Given the description of an element on the screen output the (x, y) to click on. 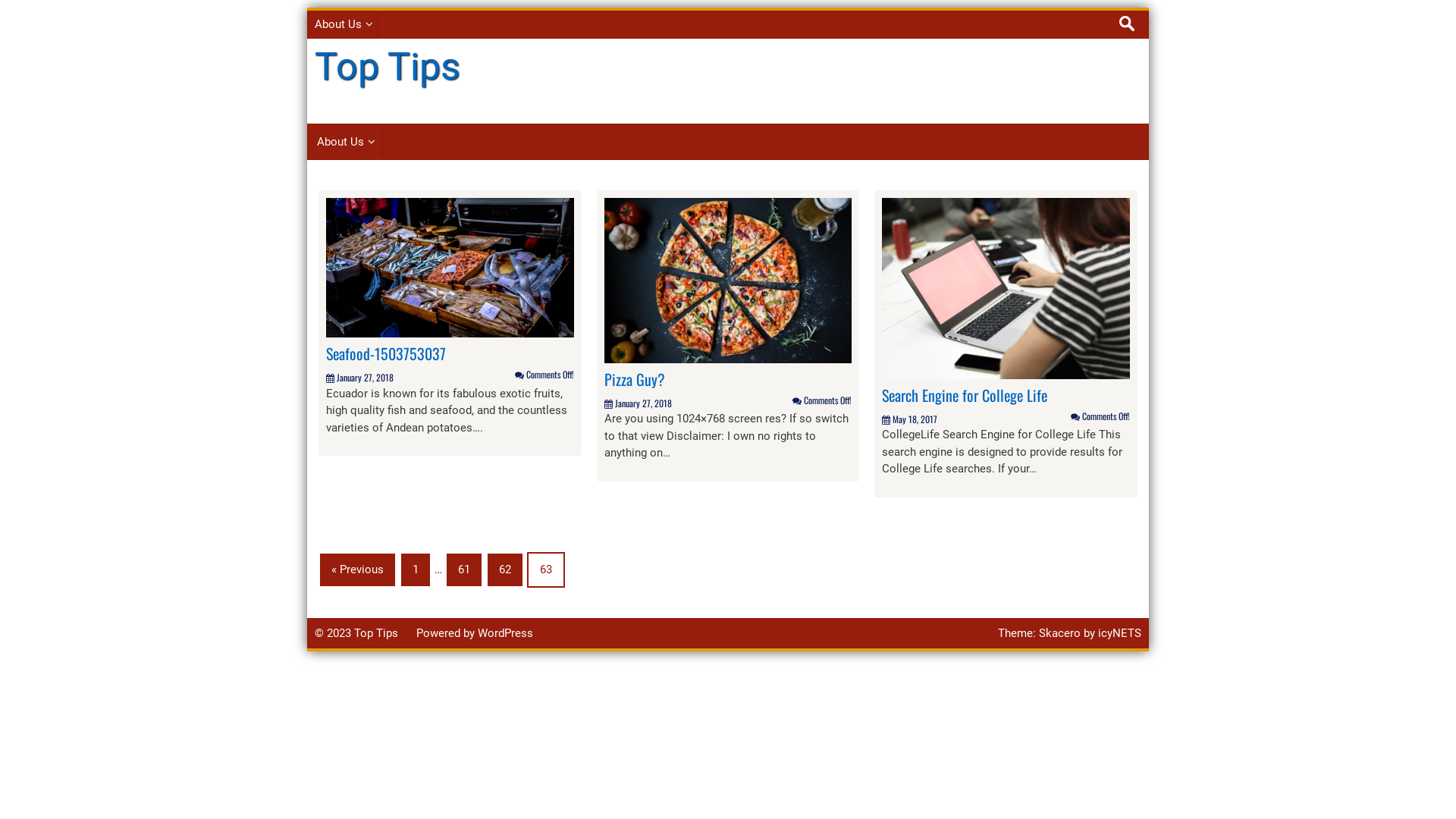
Pizza Guy? Element type: hover (728, 279)
Pizza Guy? Element type: text (634, 378)
Top Tips Element type: text (387, 65)
Powered by WordPress Element type: text (474, 633)
Seafood-1503753037 Element type: text (385, 353)
Skacero Element type: text (1059, 633)
Search Engine for College Life Element type: text (964, 394)
62 Element type: text (505, 569)
icyNETS Element type: text (1119, 633)
About Us Element type: text (341, 24)
61 Element type: text (464, 569)
Search Element type: text (24, 15)
Seafood-1503753037 Element type: hover (450, 266)
Search Engine for College Life Element type: hover (1005, 287)
About Us Element type: text (344, 141)
1 Element type: text (415, 569)
Skip to content Element type: text (306, 6)
Top Tips Element type: text (376, 633)
